Given the description of an element on the screen output the (x, y) to click on. 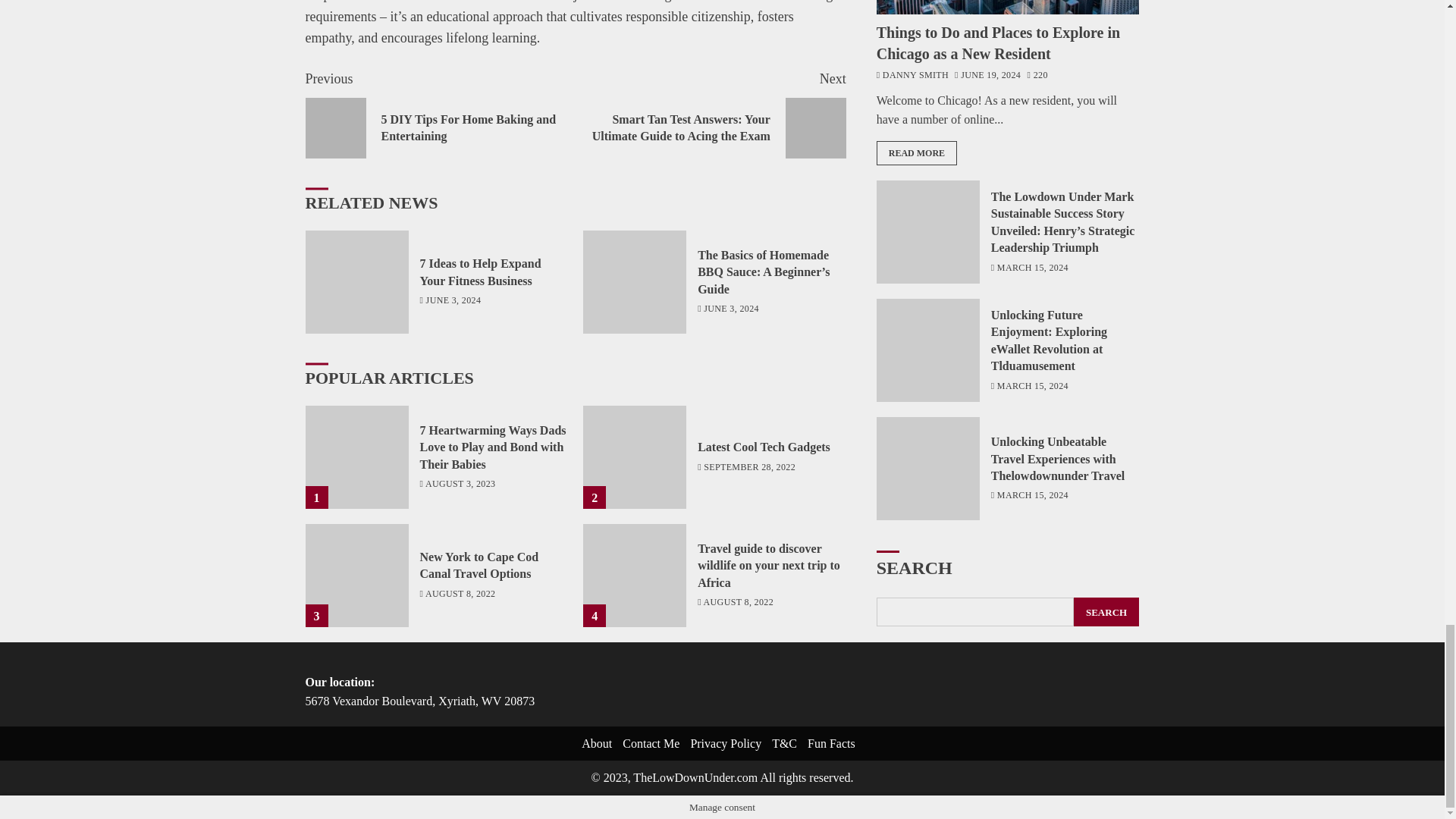
Latest Cool Tech Gadgets (763, 447)
7 Ideas to Help Expand Your Fitness Business (355, 281)
New York to Cape Cod Canal Travel Options (355, 575)
Latest Cool Tech Gadgets (634, 456)
7 Ideas to Help Expand Your Fitness Business (480, 272)
New York to Cape Cod Canal Travel Options (479, 565)
